Given the description of an element on the screen output the (x, y) to click on. 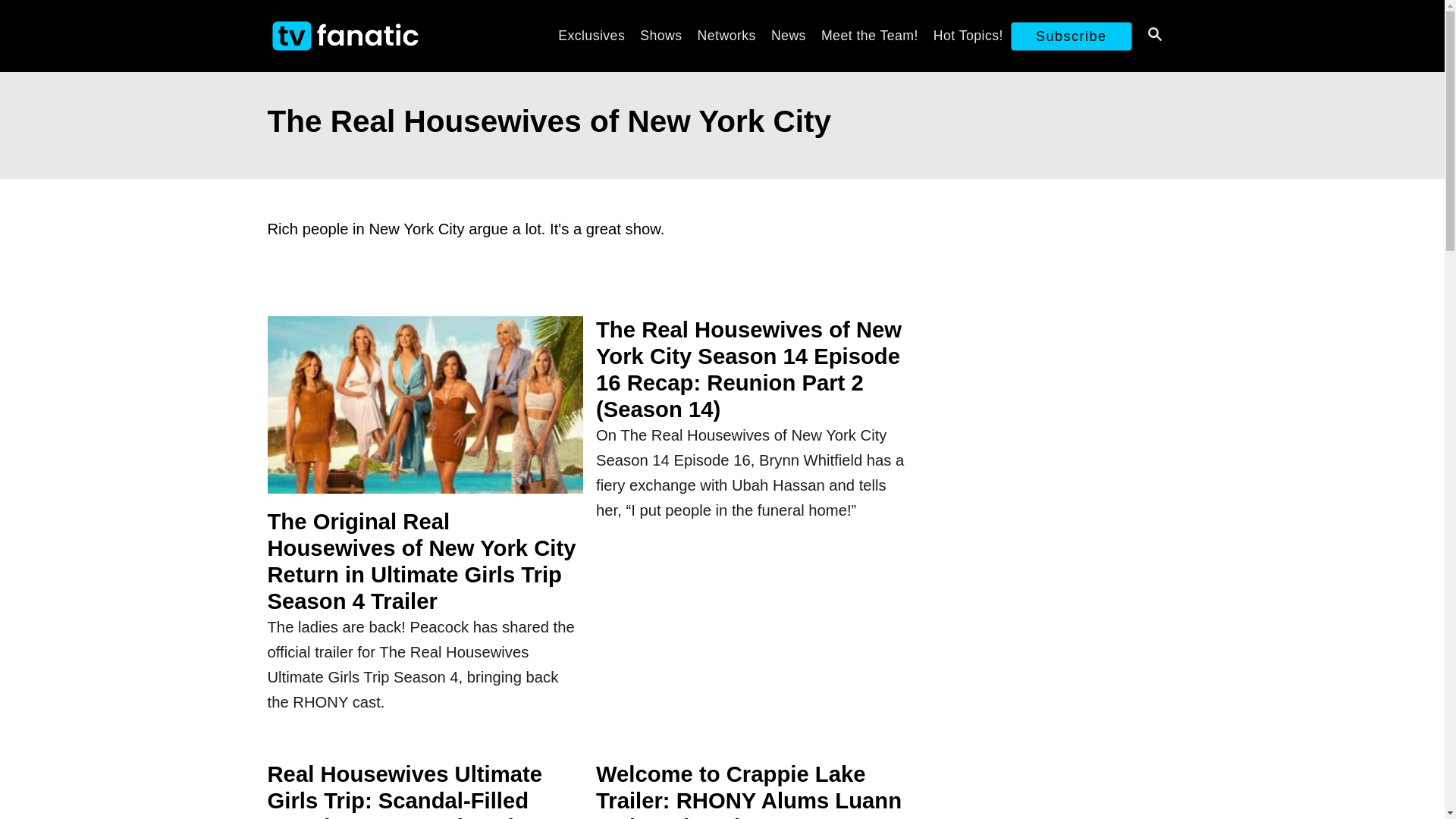
Shows (659, 35)
Exclusives (590, 35)
Networks (726, 35)
SEARCH (1153, 35)
TV Fanatic (394, 36)
